Given the description of an element on the screen output the (x, y) to click on. 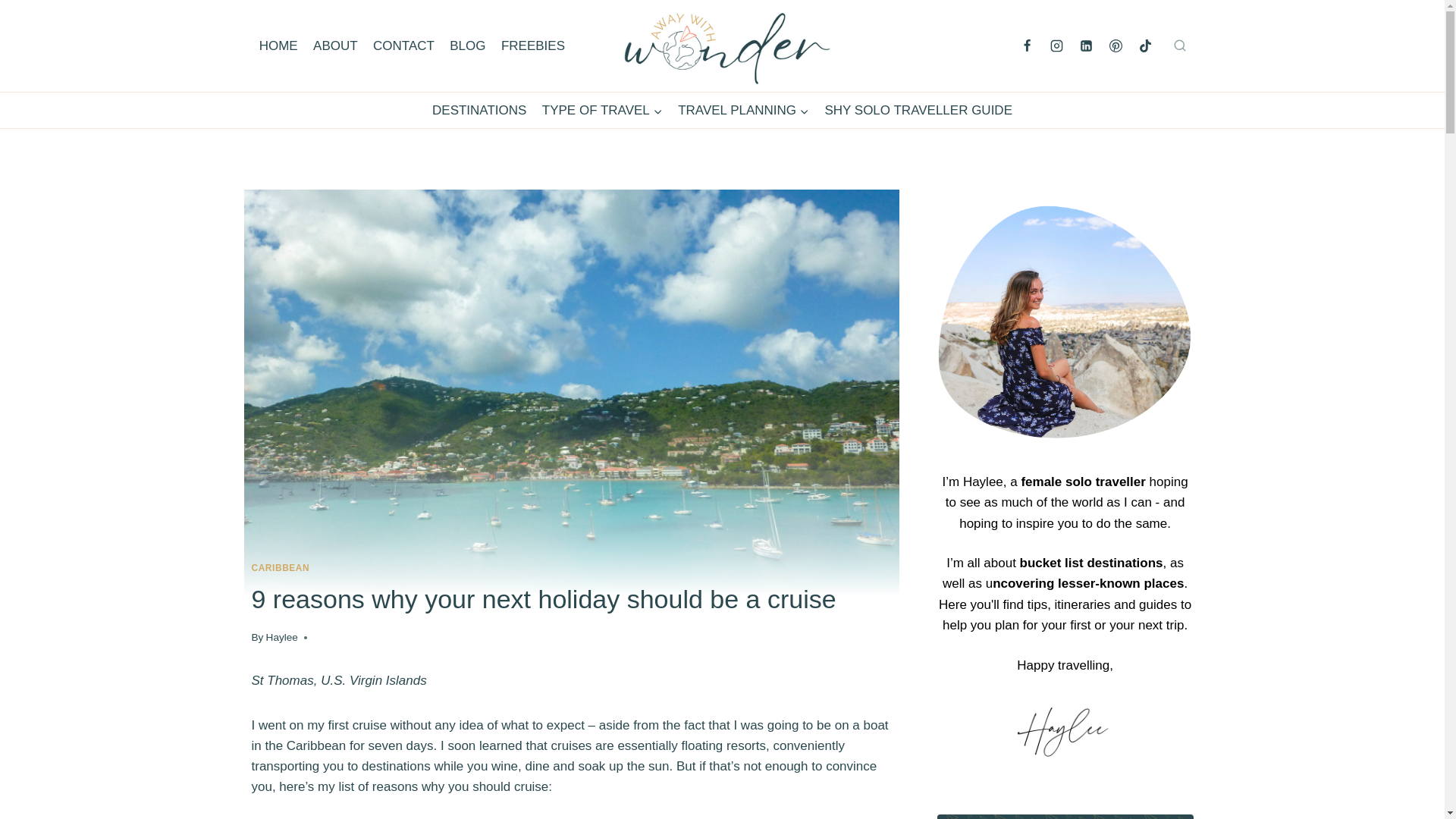
CARIBBEAN (280, 567)
HOME (278, 45)
ABOUT (335, 45)
TRAVEL PLANNING (742, 110)
Haylee (282, 636)
CONTACT (403, 45)
SHY SOLO TRAVELLER GUIDE (918, 110)
BLOG (467, 45)
FREEBIES (532, 45)
DESTINATIONS (479, 110)
TYPE OF TRAVEL (601, 110)
